Given the description of an element on the screen output the (x, y) to click on. 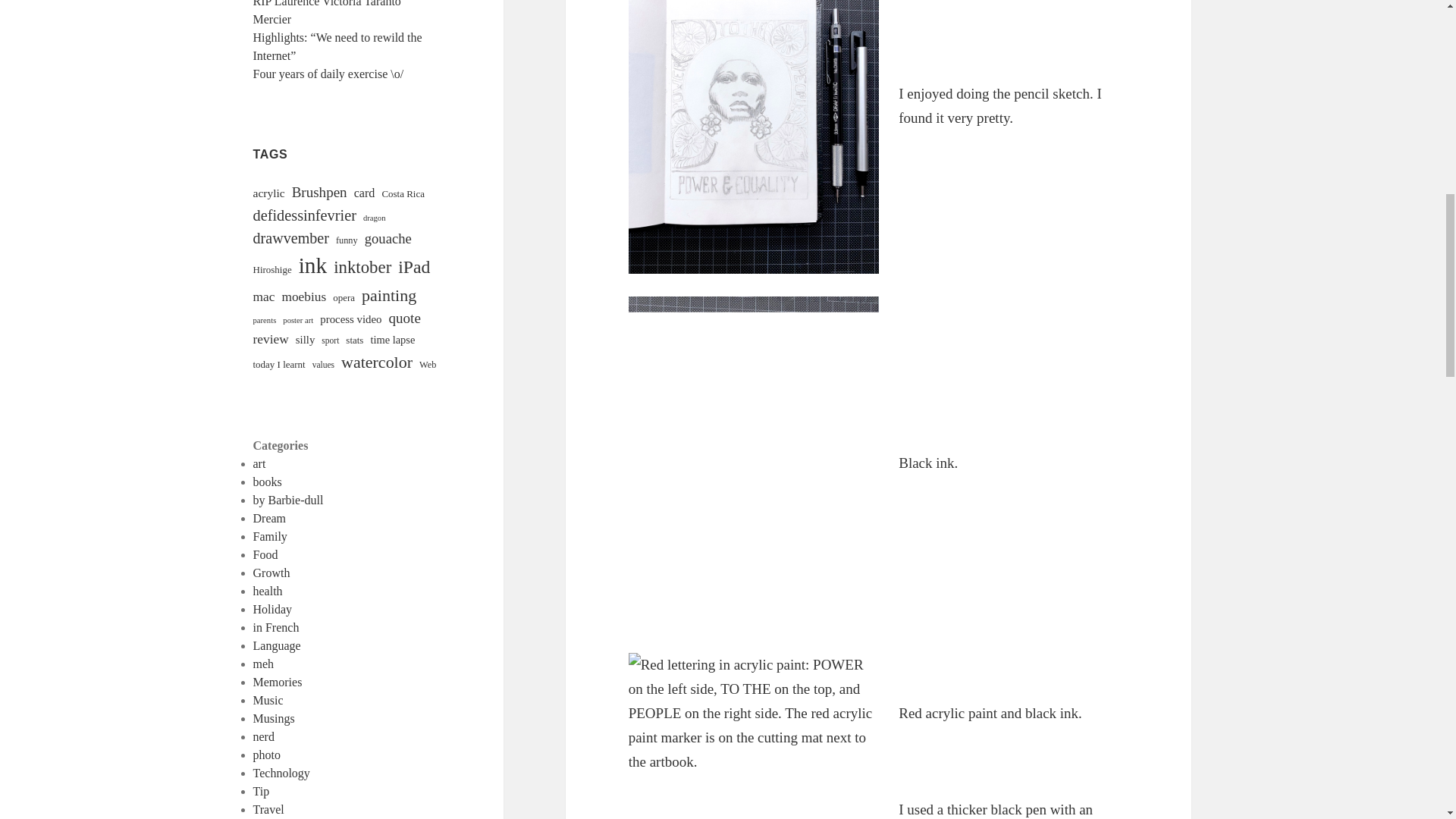
painting (388, 294)
gouache (388, 238)
acrylic (269, 192)
iPad (413, 267)
inktober (362, 267)
silly (305, 339)
time lapse (391, 340)
review (270, 339)
stats (354, 339)
quote (404, 318)
opera (344, 297)
Costa Rica (403, 193)
mac (264, 297)
poster art (297, 320)
moebius (303, 297)
